Given the description of an element on the screen output the (x, y) to click on. 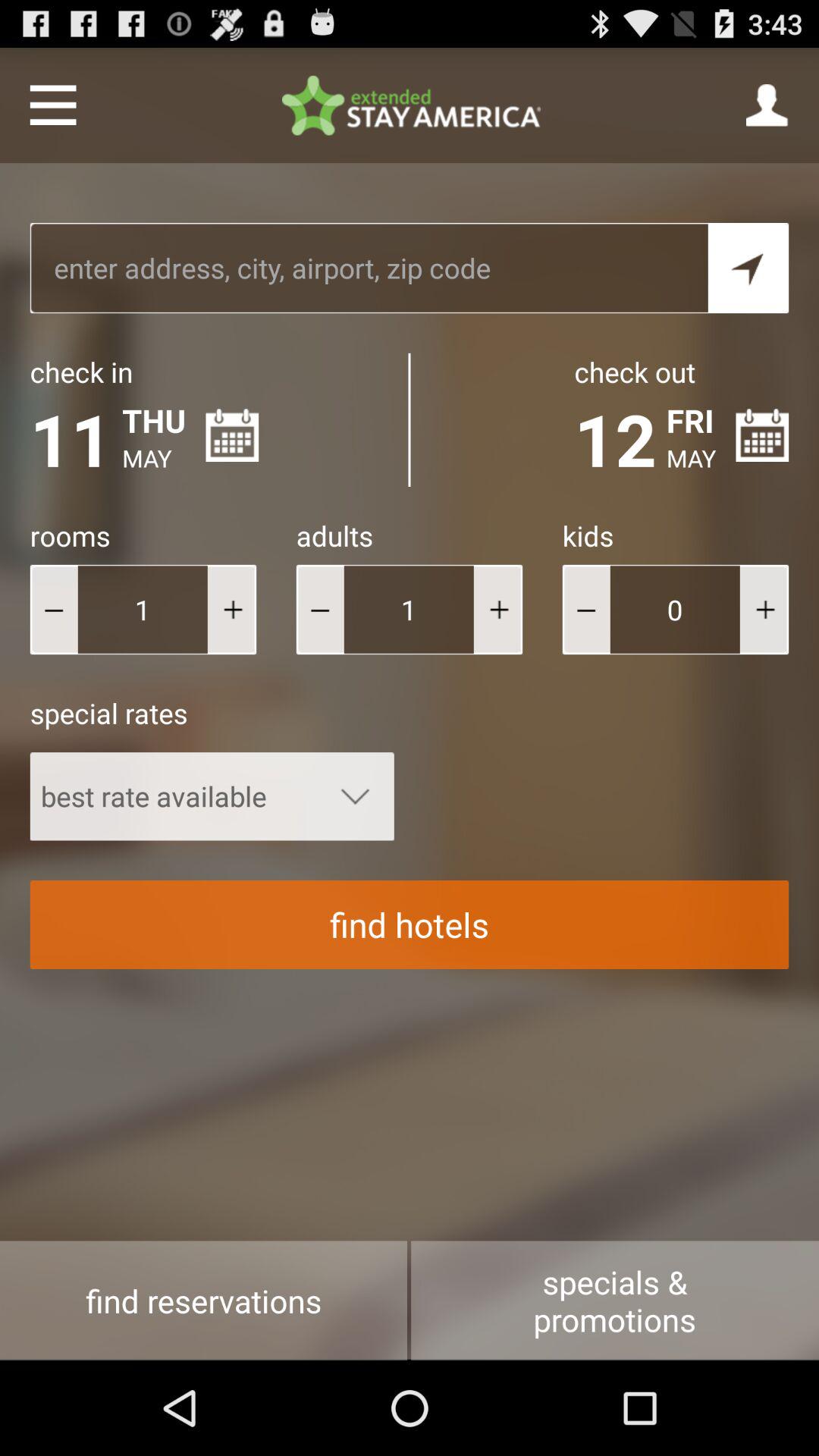
show menu (53, 105)
